Given the description of an element on the screen output the (x, y) to click on. 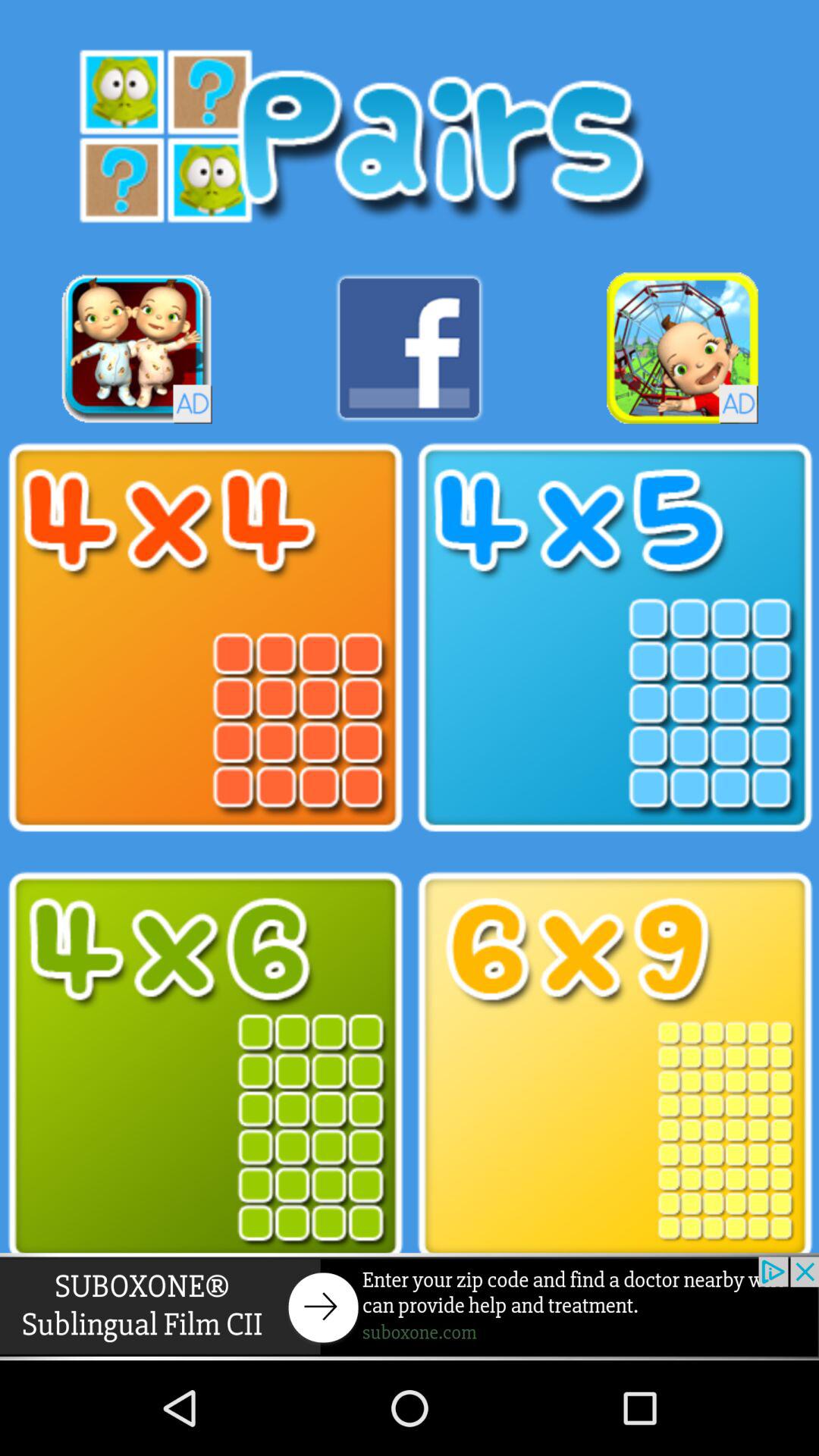
click 6x9 (614, 1066)
